Given the description of an element on the screen output the (x, y) to click on. 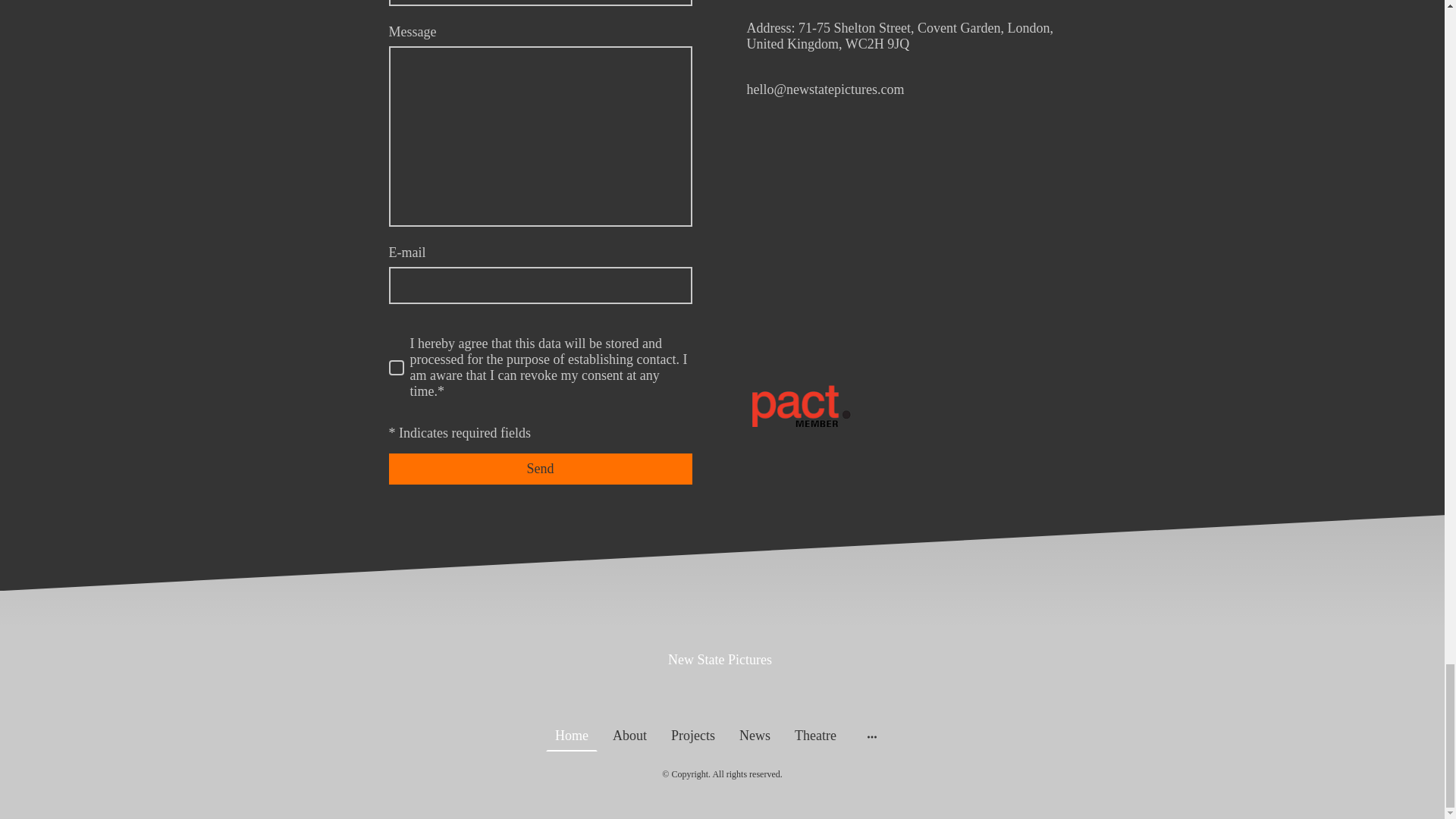
Send (539, 468)
Theatre (815, 735)
About (629, 735)
Home (571, 735)
Projects (692, 735)
New State Pictures (721, 688)
News (754, 735)
New State Pictures (721, 653)
